Given the description of an element on the screen output the (x, y) to click on. 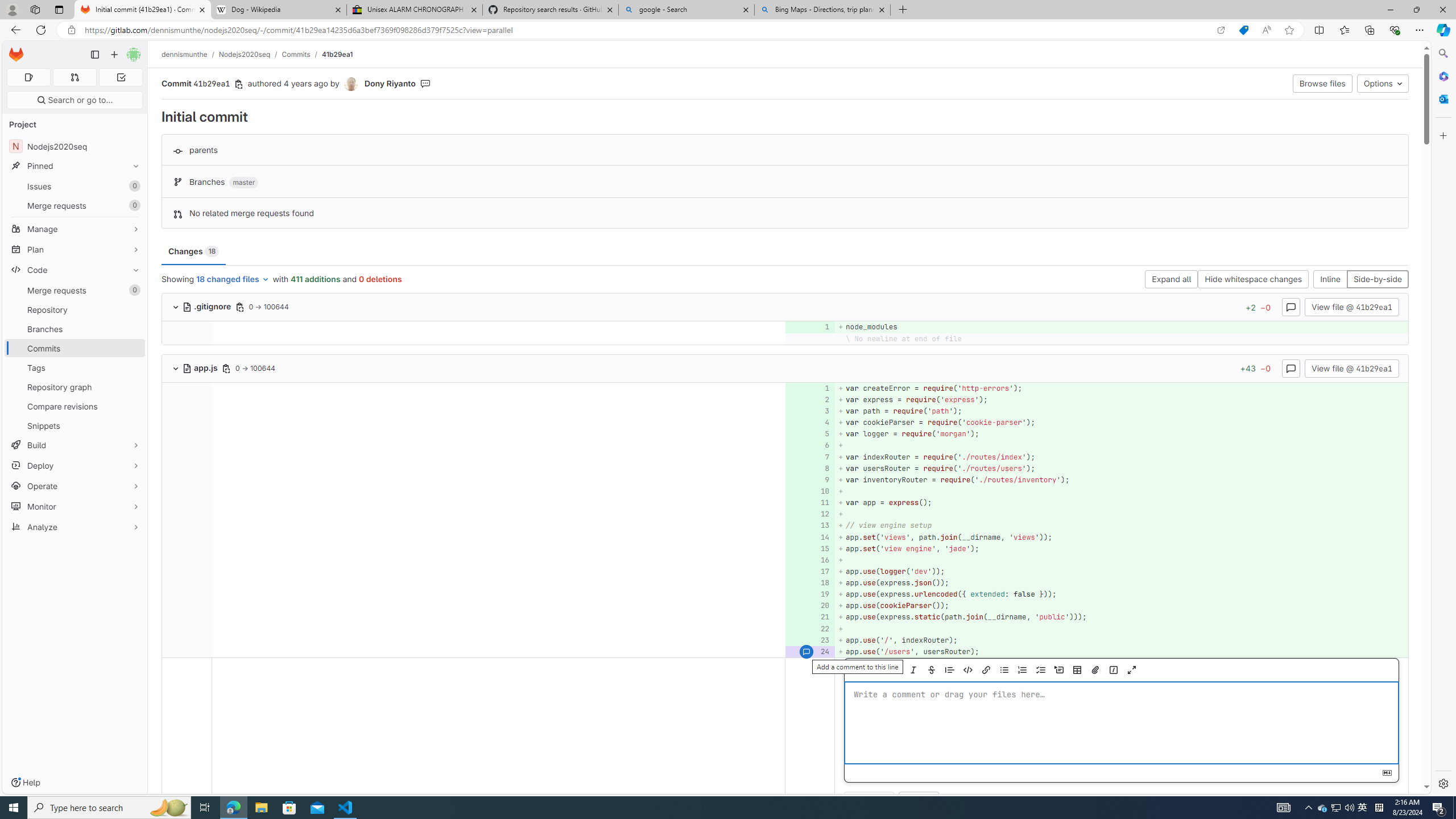
+ app.use(logger('dev'));  (1120, 571)
+ app.use(cookieParser());  (1120, 605)
Commits/ (301, 53)
Compare revisions (74, 406)
NNodejs2020seq (74, 145)
Cancel (918, 800)
Add a table (1077, 670)
Attach a file or image (1094, 670)
Tags (74, 367)
Add a comment to this line 24 (809, 651)
Pin Repository graph (132, 386)
.gitignore  (207, 306)
